Given the description of an element on the screen output the (x, y) to click on. 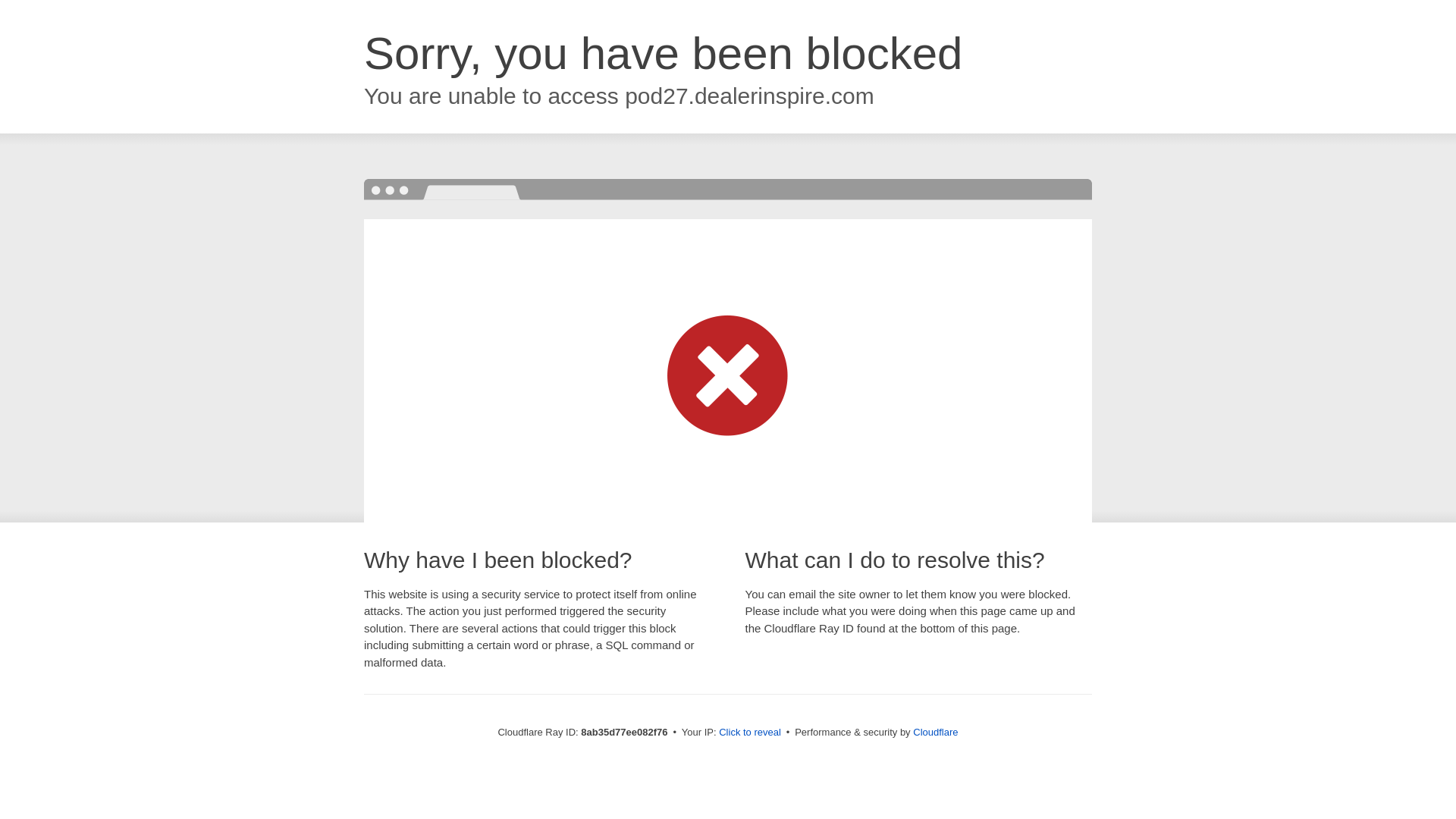
Click to reveal (749, 732)
Cloudflare (935, 731)
